Given the description of an element on the screen output the (x, y) to click on. 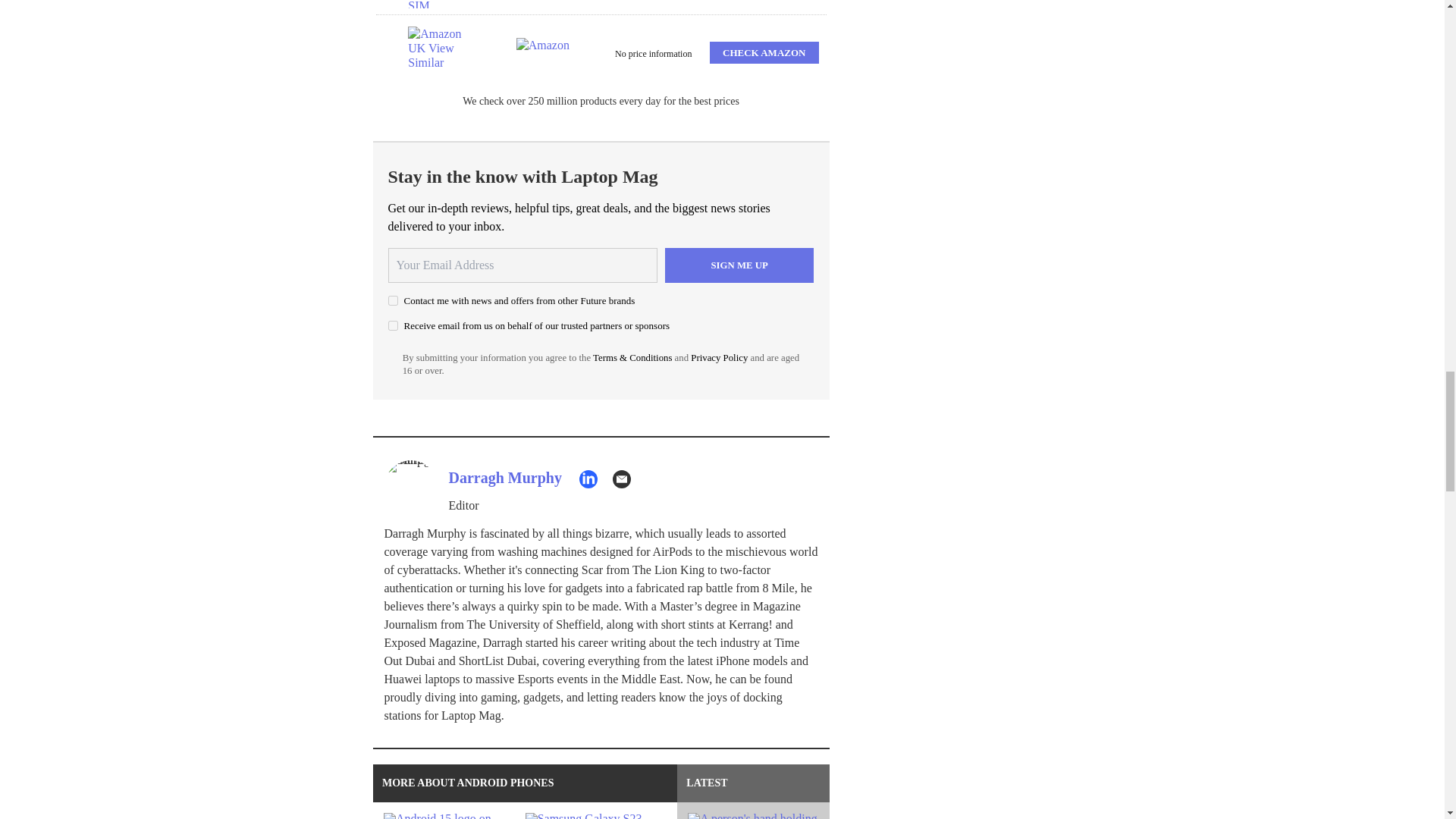
Amazon (546, 52)
on (392, 325)
Amazon UK View Similar (437, 52)
Sign me up (739, 265)
Google Pixel 6 256GB 5G SIM... (437, 4)
on (392, 300)
